Given the description of an element on the screen output the (x, y) to click on. 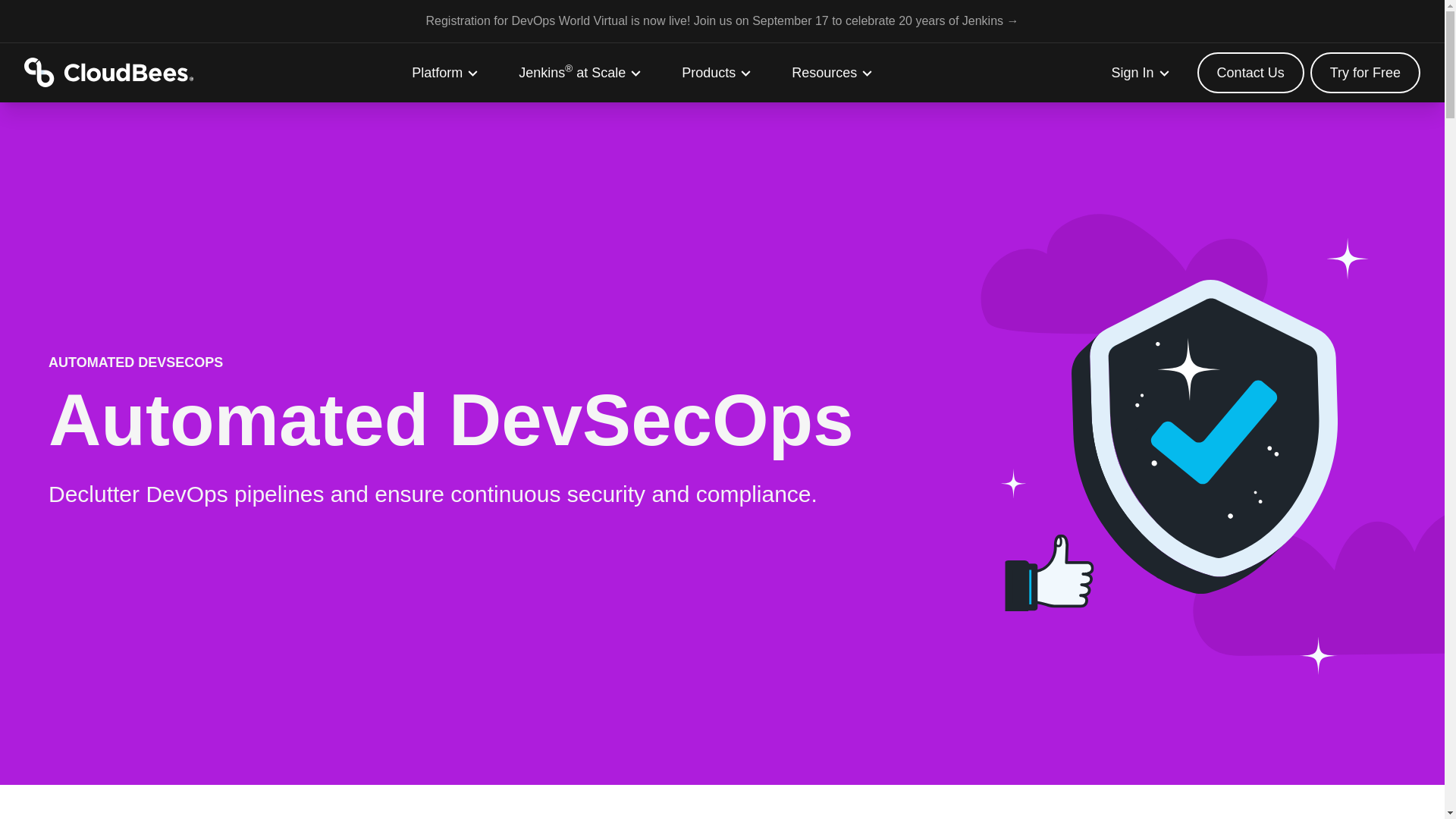
Platform (445, 72)
Products (716, 72)
